Given the description of an element on the screen output the (x, y) to click on. 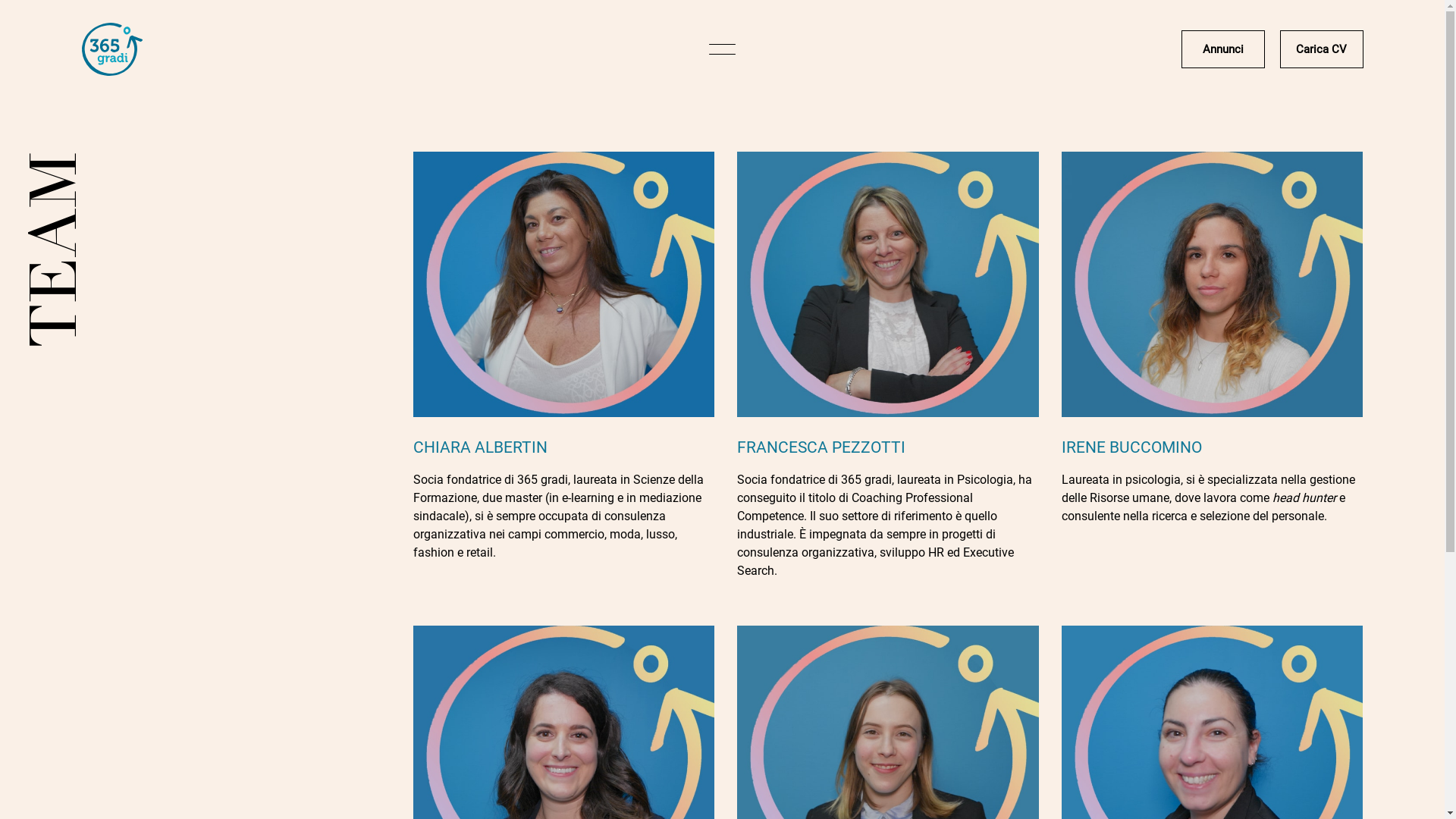
FRANCESCA PEZZOTTI Element type: text (821, 447)
CHIARA ALBERTIN Element type: text (480, 447)
Carica CV Element type: text (1321, 49)
Annunci Element type: text (1222, 49)
IRENE BUCCOMINO Element type: text (1131, 447)
Hamburger menu Element type: hover (722, 49)
